Given the description of an element on the screen output the (x, y) to click on. 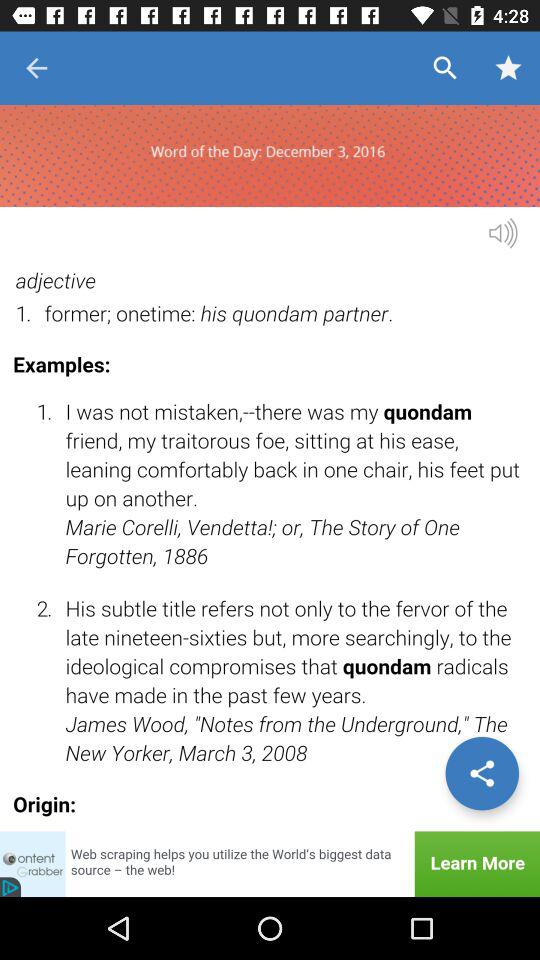
go to share (482, 773)
